Given the description of an element on the screen output the (x, y) to click on. 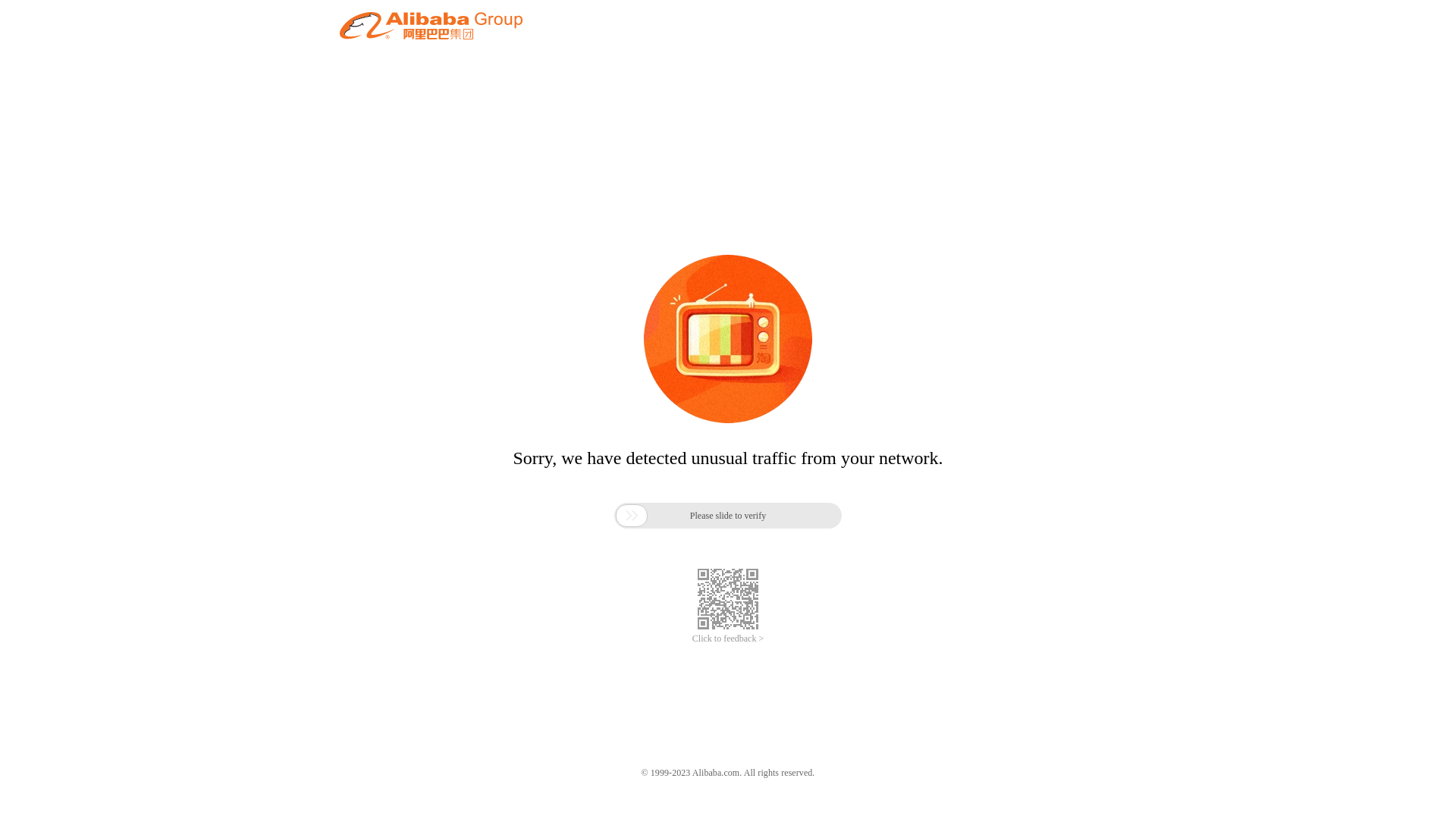
Click to feedback > Element type: text (727, 638)
